Given the description of an element on the screen output the (x, y) to click on. 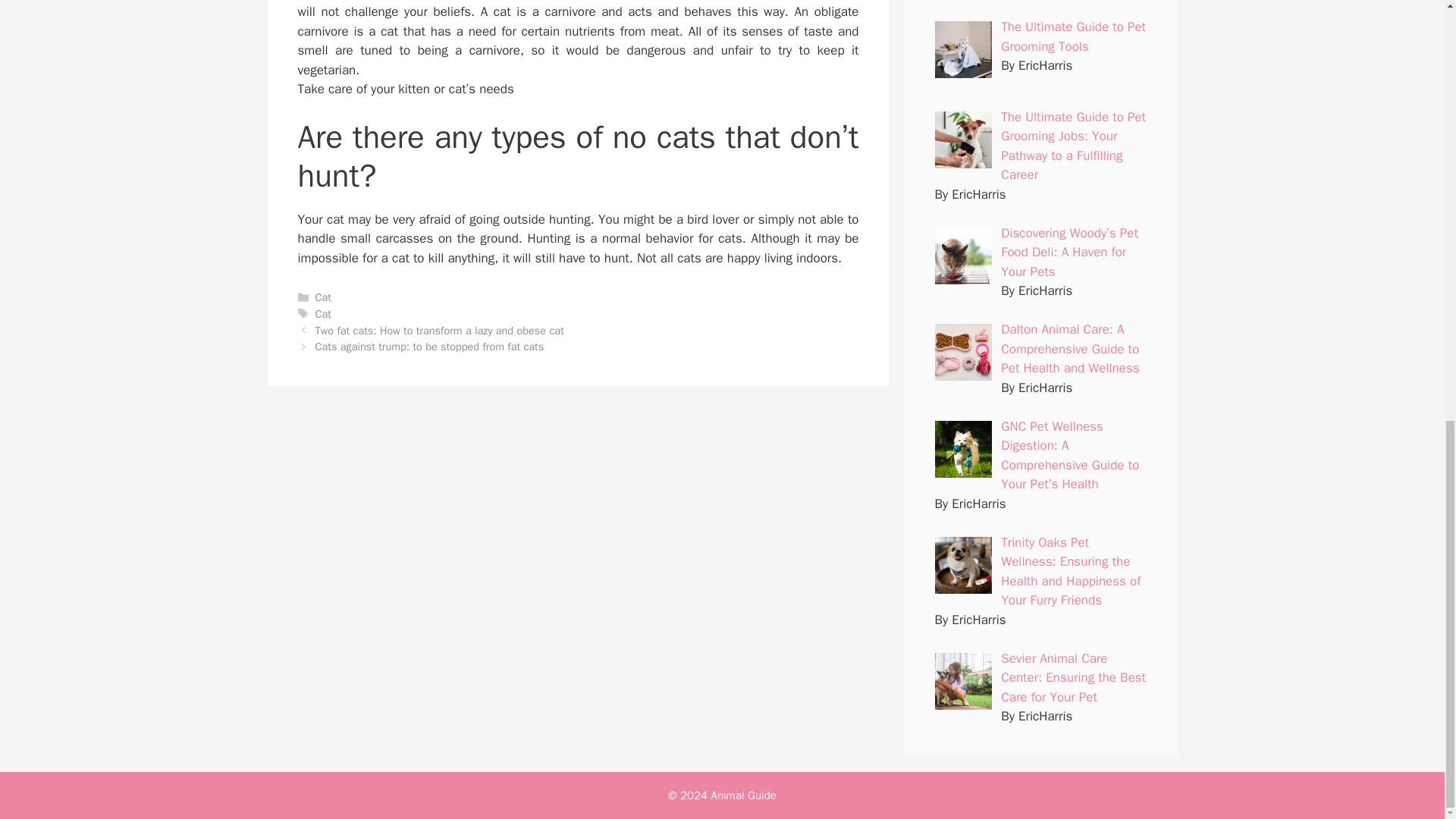
The Ultimate Guide to Pet Grooming Tools (1073, 36)
Two fat cats: How to transform a lazy and obese cat (439, 330)
Cats against trump: to be stopped from fat cats (429, 345)
Cat (323, 314)
Cat (323, 296)
